Given the description of an element on the screen output the (x, y) to click on. 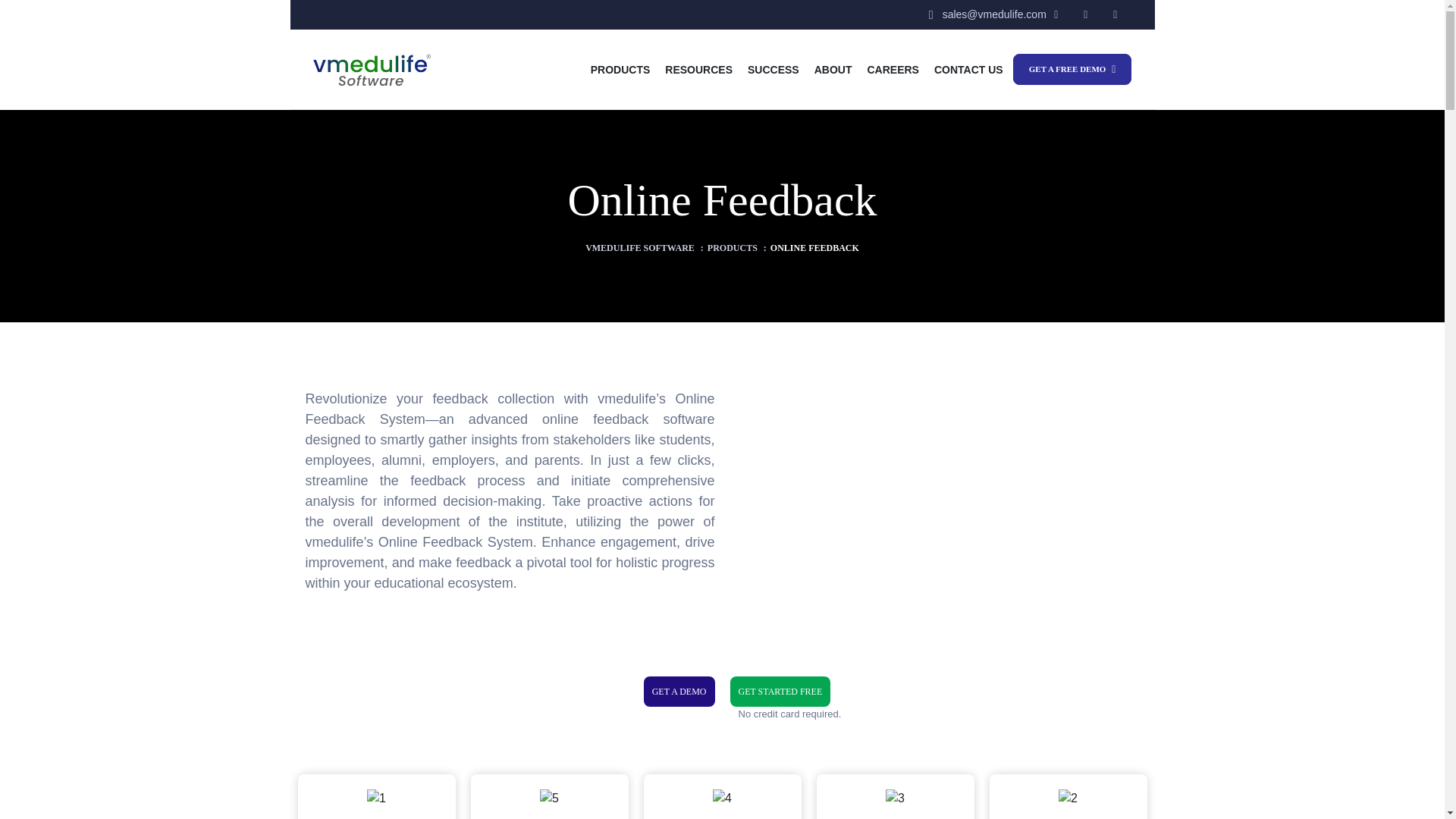
TOP (1414, 783)
Go to Products. (732, 247)
1 (375, 798)
5 (549, 798)
4 (722, 798)
3 (894, 798)
2 (1067, 798)
Go to vmedulife Software. (639, 247)
